Given the description of an element on the screen output the (x, y) to click on. 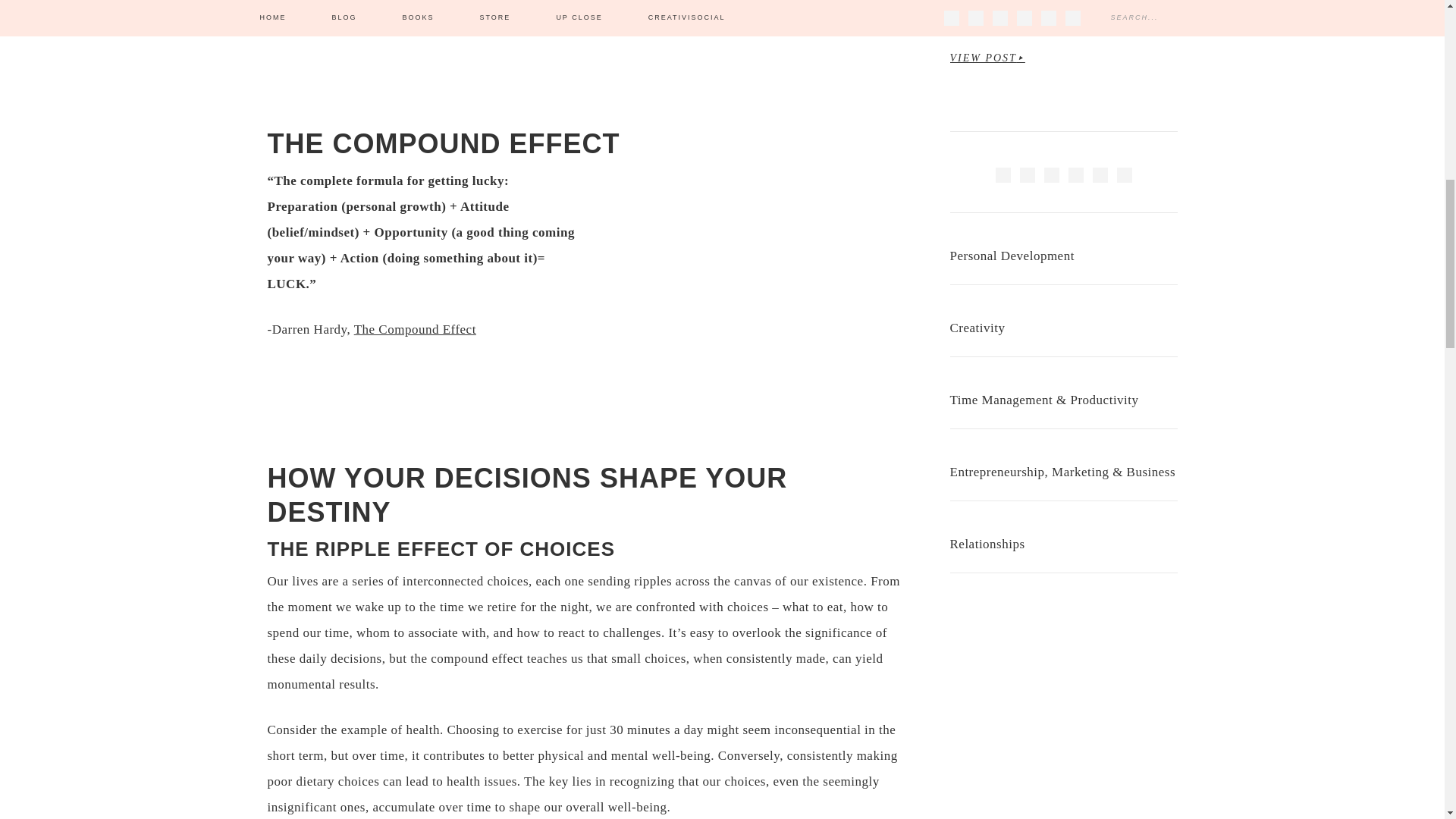
The Compound Effect (414, 329)
Personal Development (1011, 255)
Creativity (976, 327)
VIEW POST (987, 58)
